Given the description of an element on the screen output the (x, y) to click on. 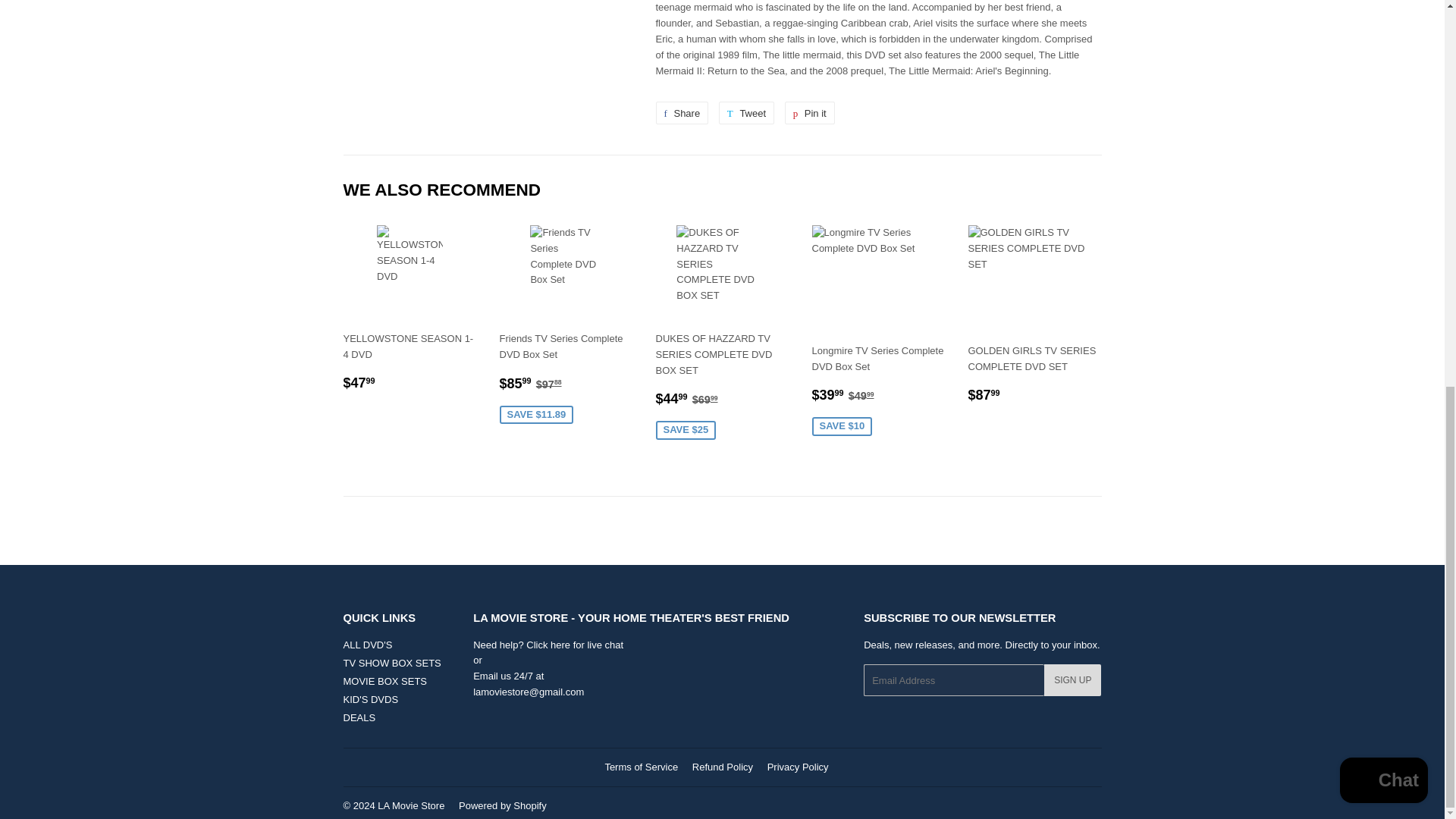
Tweet on Twitter (746, 112)
TV SHOW BOX SETS (391, 663)
Shopify online store chat (746, 112)
Pin on Pinterest (809, 112)
ALL DVD'S (681, 112)
Share on Facebook (1383, 51)
